Given the description of an element on the screen output the (x, y) to click on. 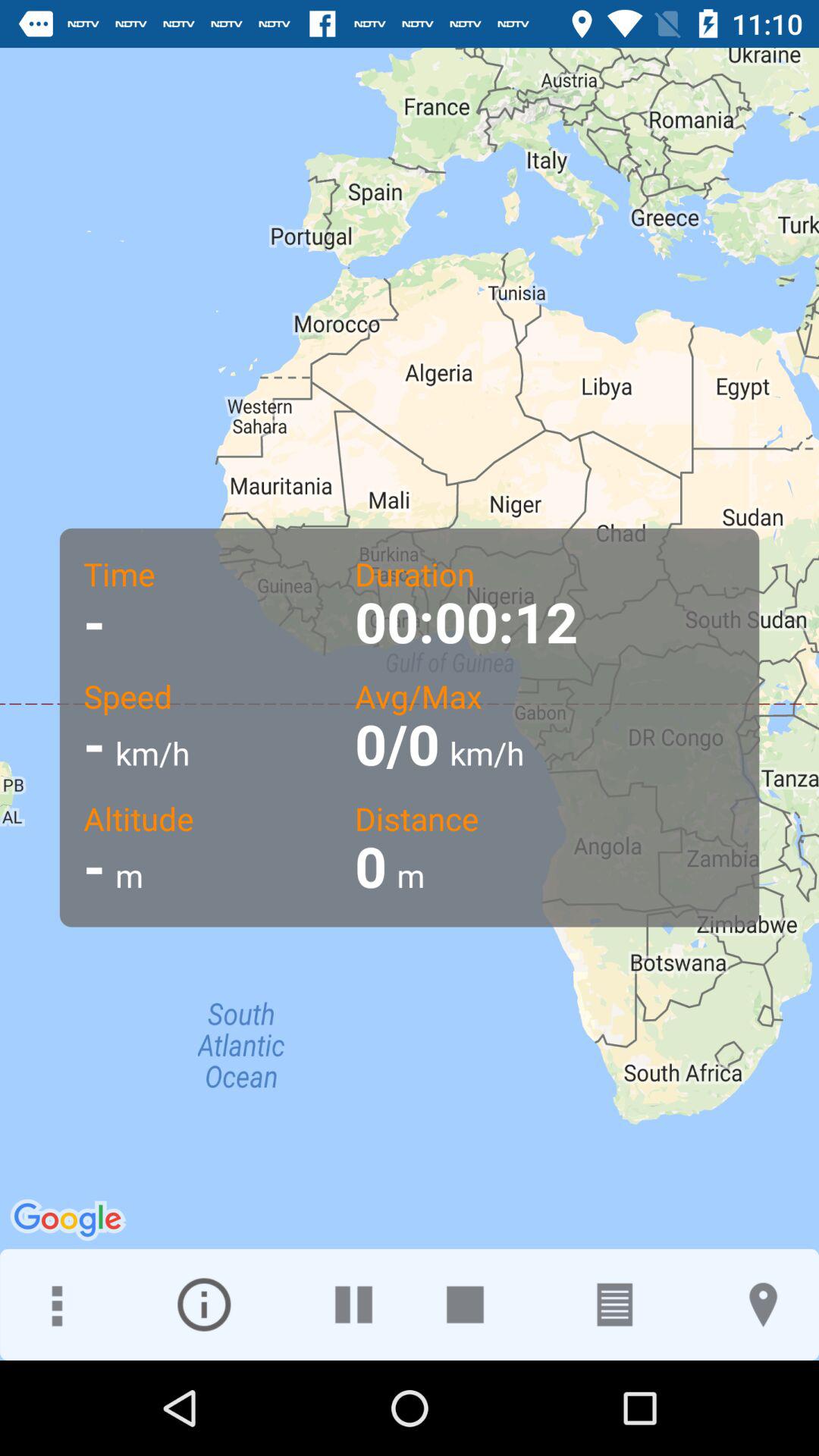
turn off the icon below distance (763, 1304)
